Given the description of an element on the screen output the (x, y) to click on. 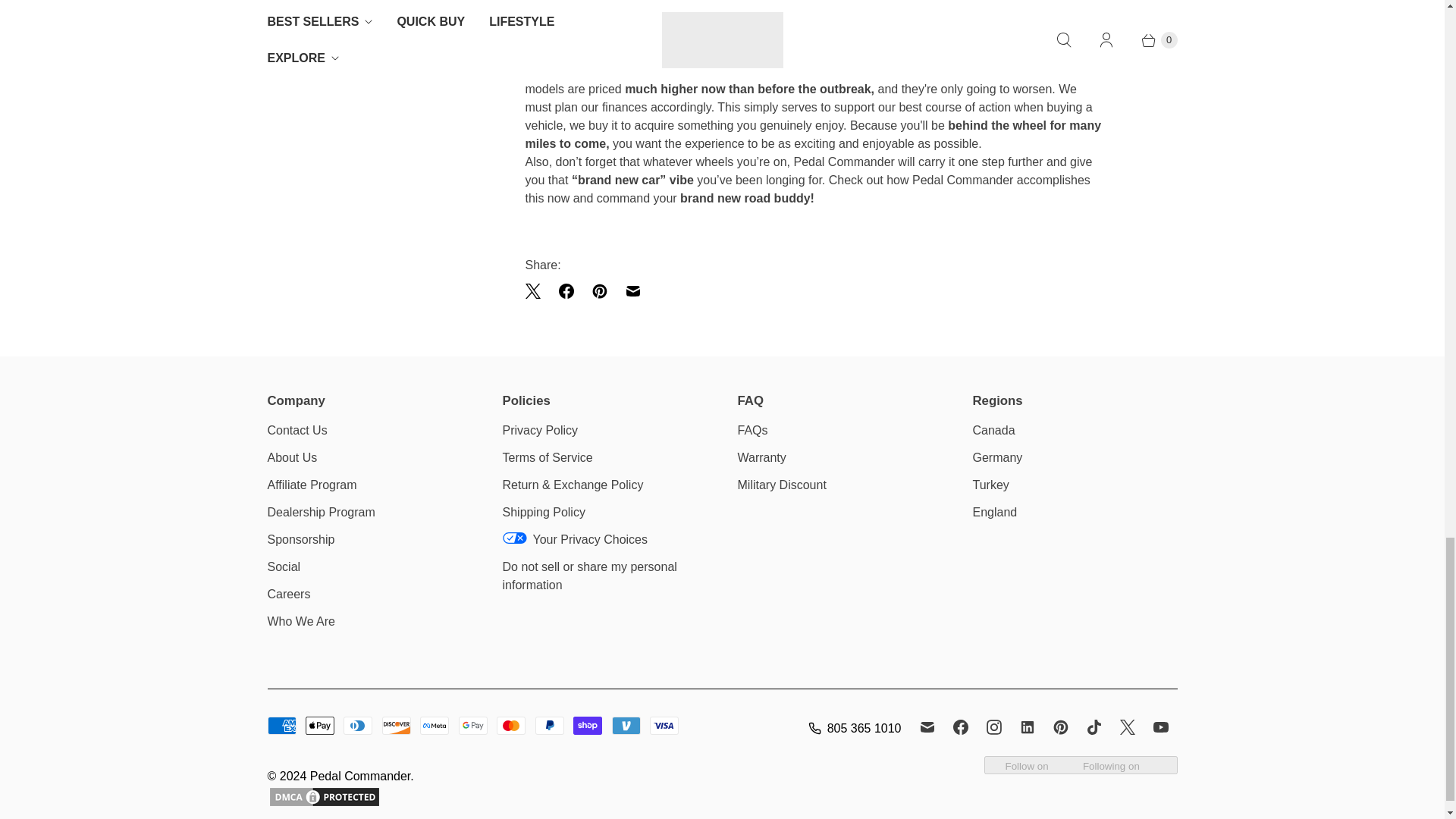
Email this to a friend (632, 290)
DMCA.com Protection Status (323, 794)
Share this on Facebook (565, 290)
Diners Club (357, 725)
Apple Pay (319, 725)
Share this on Pinterest (598, 290)
American Express (280, 725)
